Given the description of an element on the screen output the (x, y) to click on. 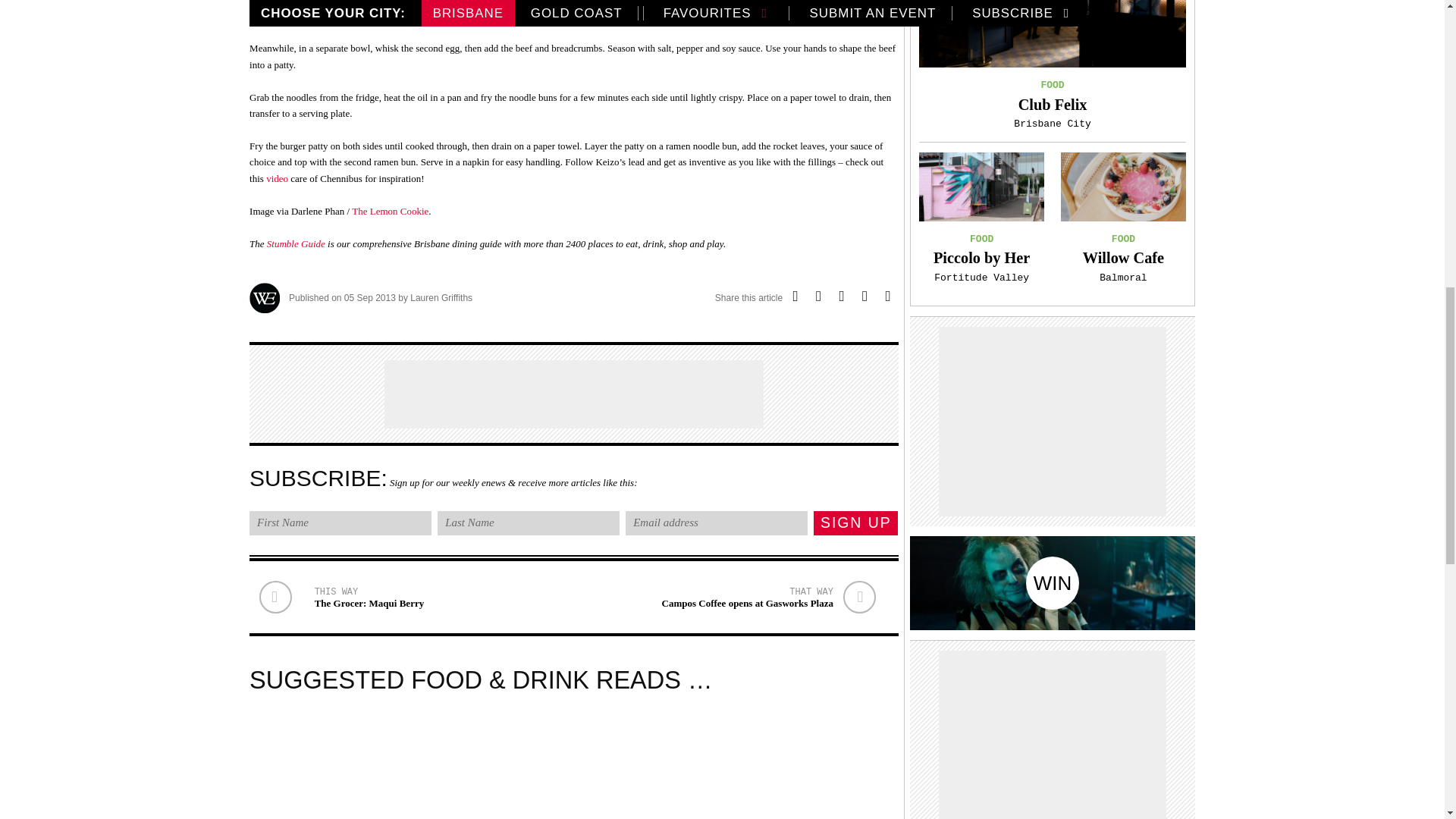
The Lemon Cookie (390, 211)
Stumble Guide (295, 243)
video (277, 178)
Sign up (855, 523)
Sign up (855, 523)
